Given the description of an element on the screen output the (x, y) to click on. 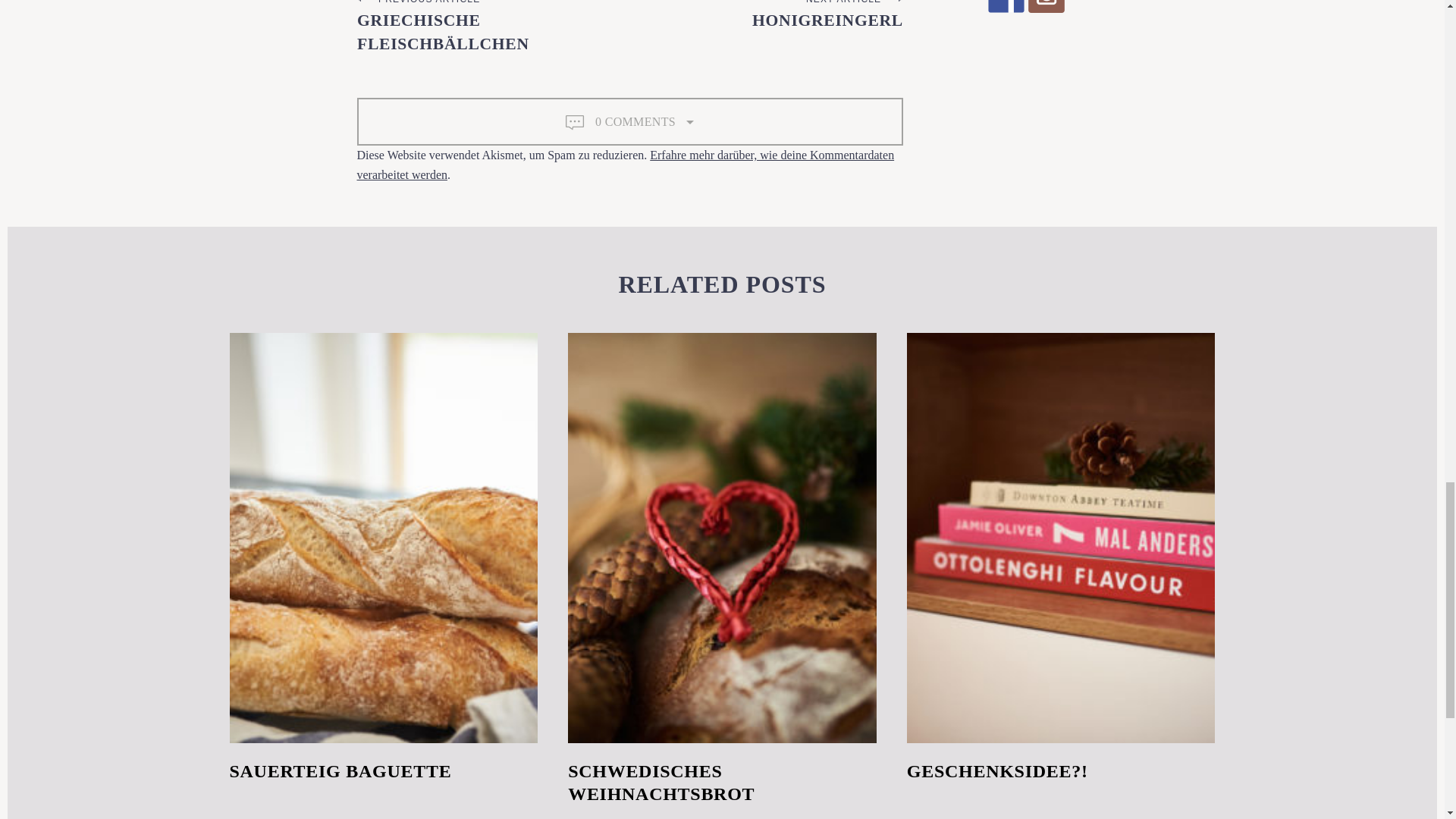
Folge uns auf Instagram (1045, 6)
HONIGREINGERL (827, 20)
Folge uns auf Facebook (1005, 6)
